Given the description of an element on the screen output the (x, y) to click on. 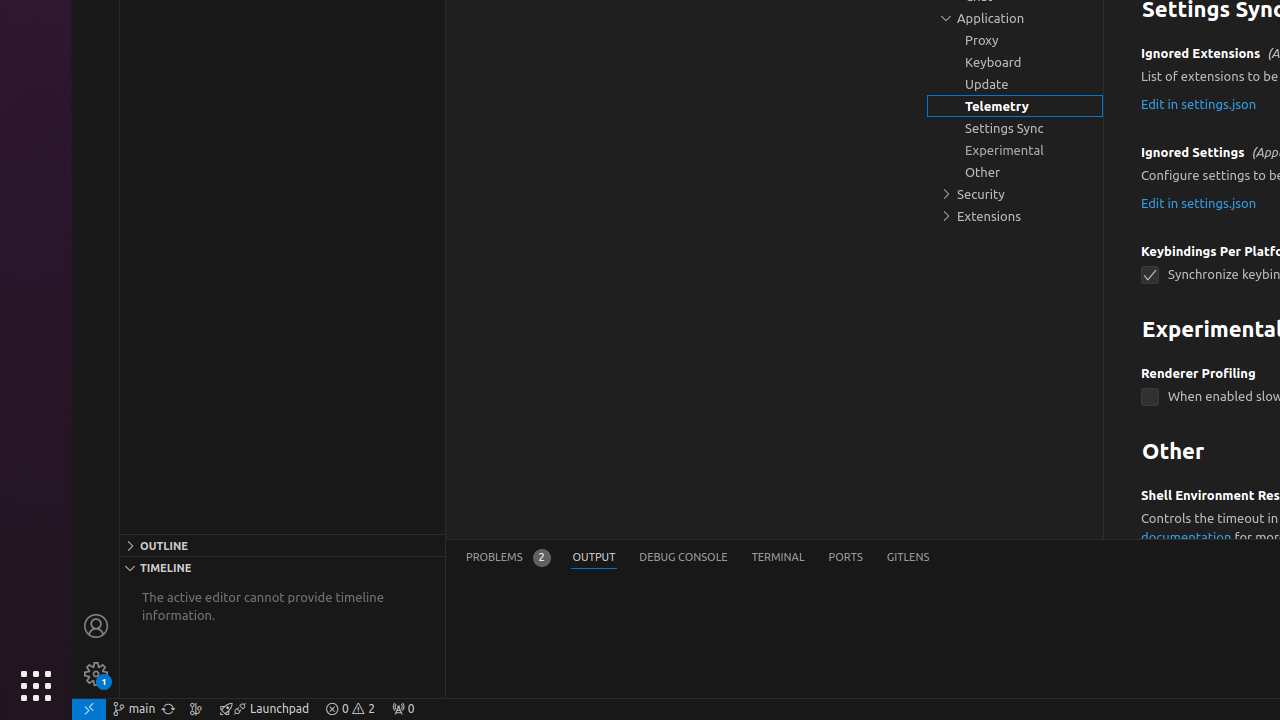
Problems (Ctrl+Shift+M) - Total 2 Problems Element type: page-tab (507, 557)
documentation Element type: link (1186, 536)
Terminal (Ctrl+`) Element type: page-tab (778, 557)
Extensions, group Element type: tree-item (1015, 216)
Edit in settings.json: settingsSync.ignoredExtensions Element type: push-button (1199, 103)
